Given the description of an element on the screen output the (x, y) to click on. 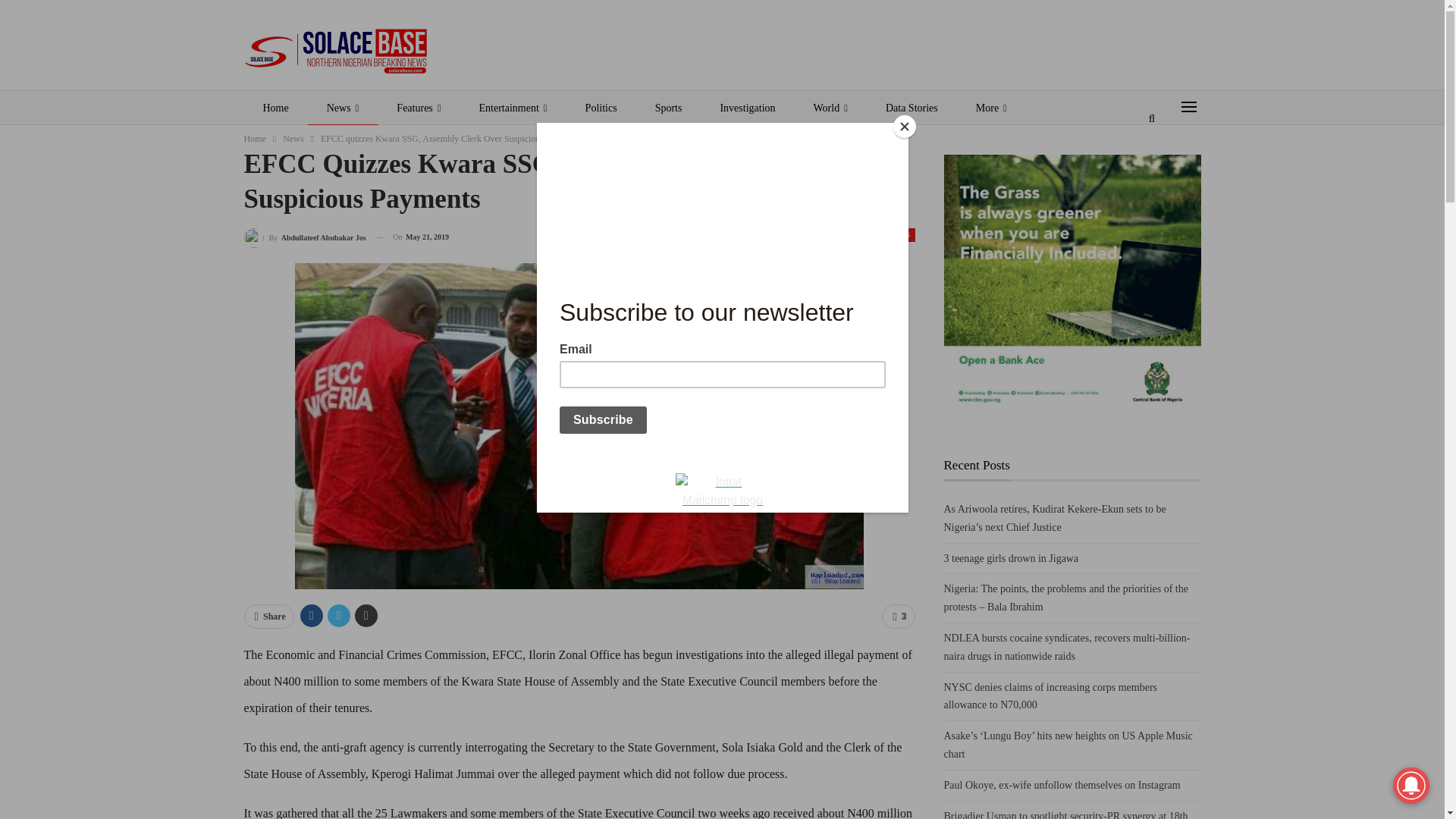
More (991, 108)
Sports (668, 108)
World (830, 108)
NEWS (898, 234)
News (292, 138)
Data Stories (911, 108)
Browse Author Articles (305, 237)
Features (418, 108)
Entertainment (513, 108)
Home (255, 138)
